Given the description of an element on the screen output the (x, y) to click on. 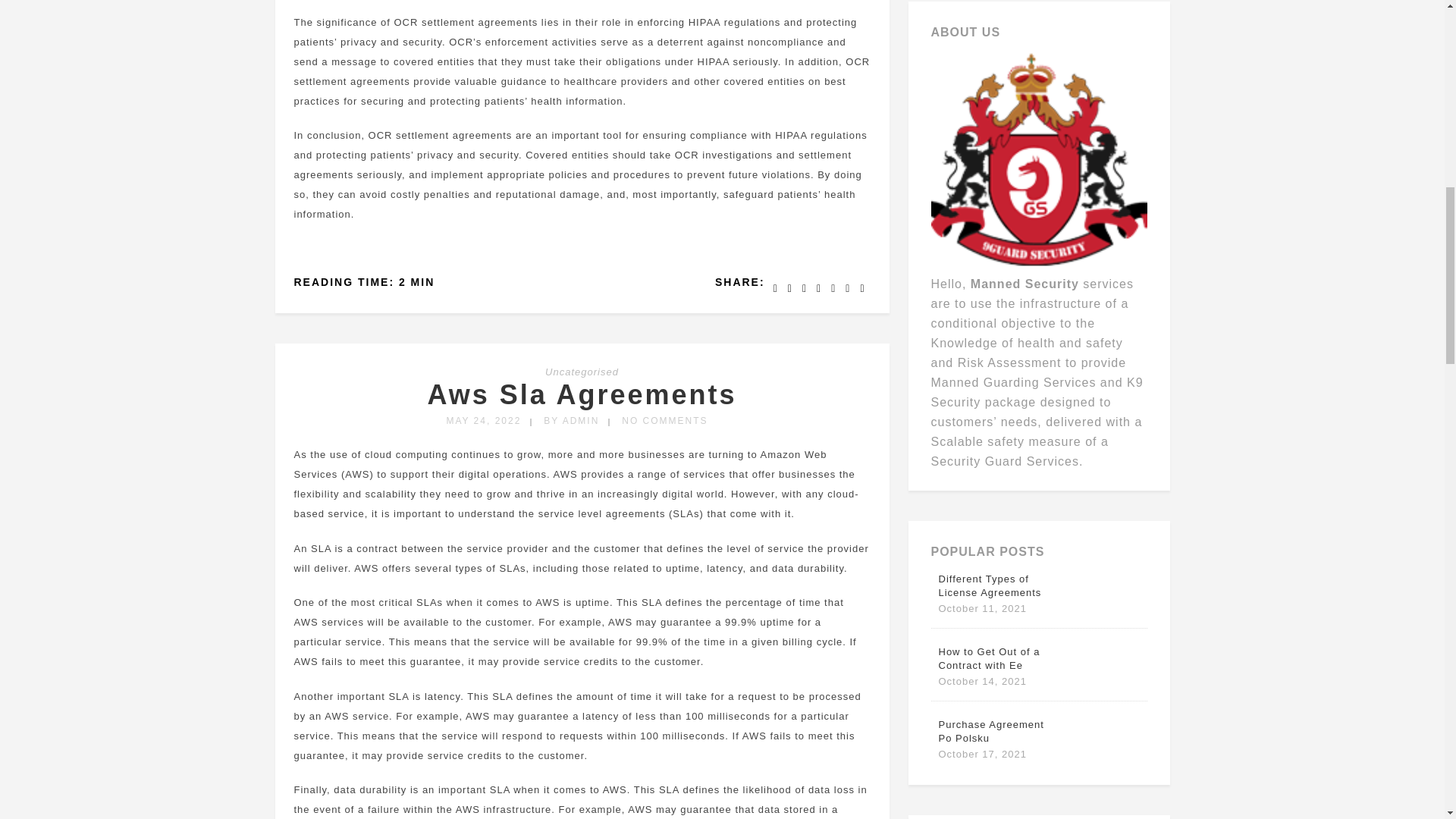
Permanent Link to How to Get Out of a Contract with Ee (995, 658)
BY ADMIN (570, 420)
Aws Sla Agreements (581, 394)
Permanent Link to Different Types of License Agreements (995, 585)
Permanent Link to Purchase Agreement Po Polsku (995, 731)
NO COMMENTS (664, 420)
MAY 24, 2022 (483, 420)
Permanent Link to Aws Sla Agreements (581, 394)
